Given the description of an element on the screen output the (x, y) to click on. 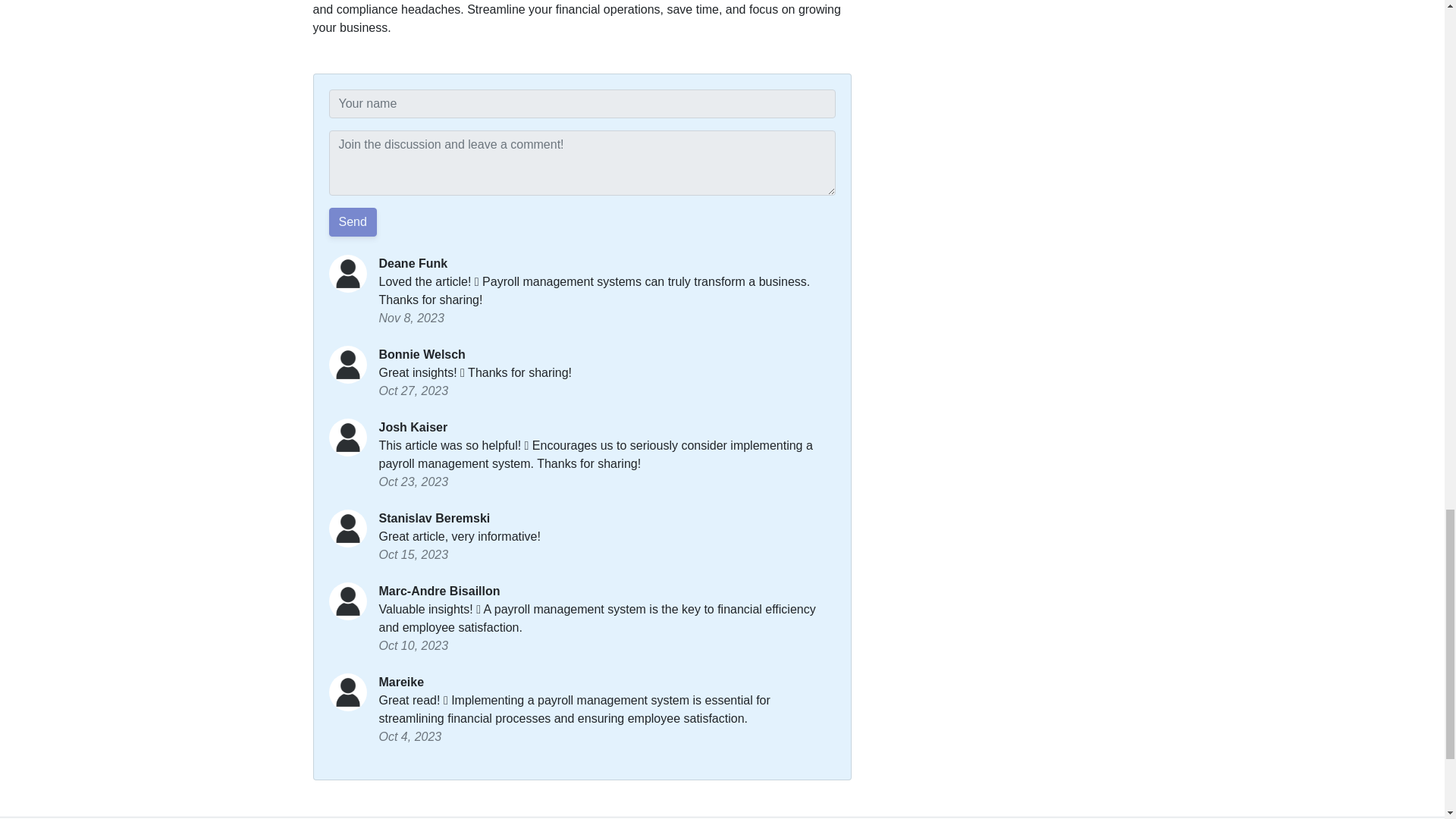
Send (353, 222)
Send (353, 222)
